Given the description of an element on the screen output the (x, y) to click on. 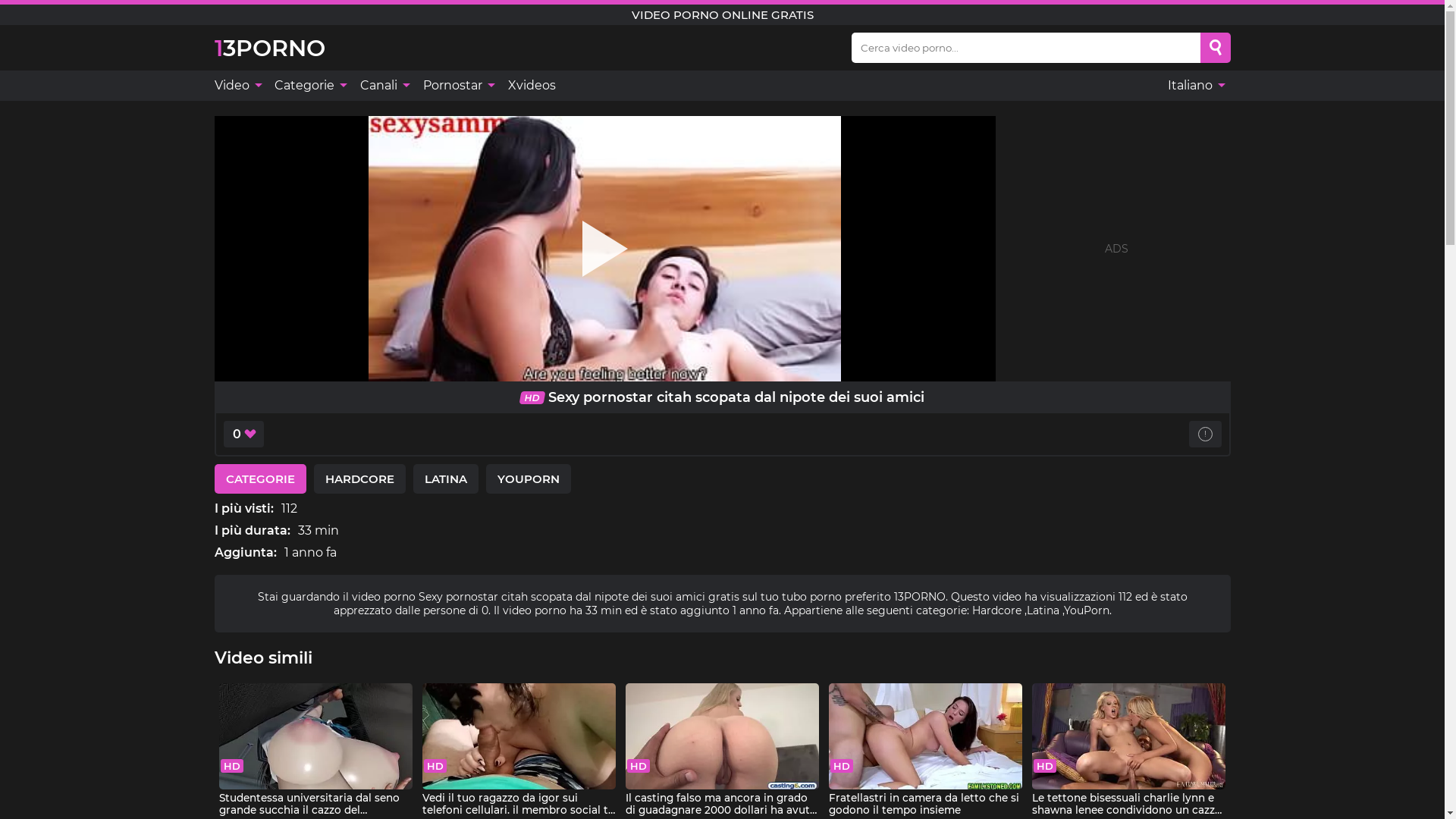
Search Element type: text (1215, 47)
13PORNO Element type: text (268, 47)
Pornostar Element type: text (456, 85)
Xvideos Element type: text (531, 85)
HARDCORE Element type: text (359, 478)
Categorie Element type: text (309, 85)
Canali Element type: text (383, 85)
Italiano Element type: text (1195, 85)
YOUPORN Element type: text (527, 478)
LATINA Element type: text (444, 478)
Video Element type: text (239, 85)
